Given the description of an element on the screen output the (x, y) to click on. 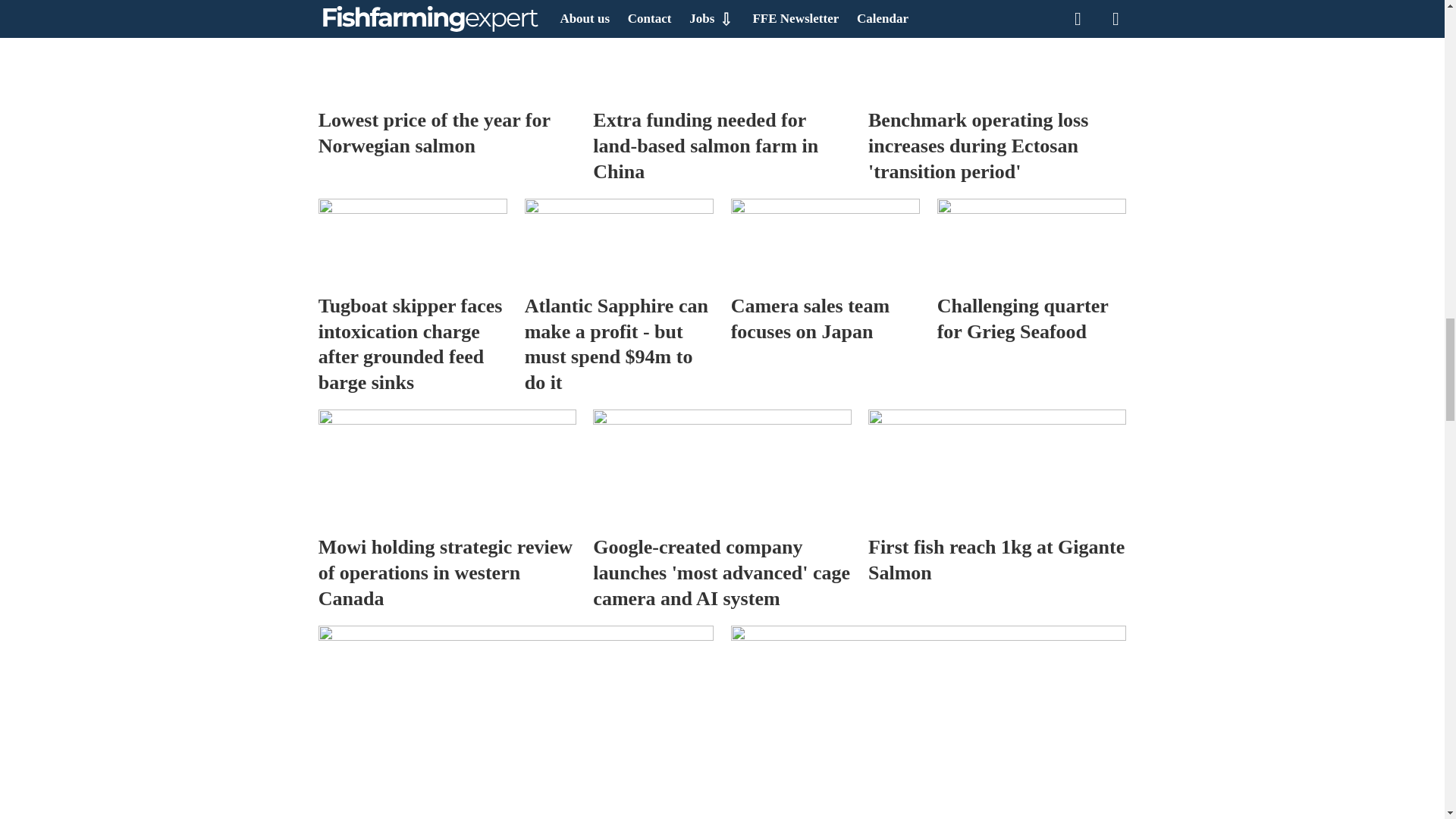
Extra funding needed for land-based salmon farm in China (721, 49)
Camera sales team focuses on Japan (825, 241)
Lowest price of the year for Norwegian salmon (447, 49)
Challenging quarter for Grieg Seafood (1031, 241)
